Given the description of an element on the screen output the (x, y) to click on. 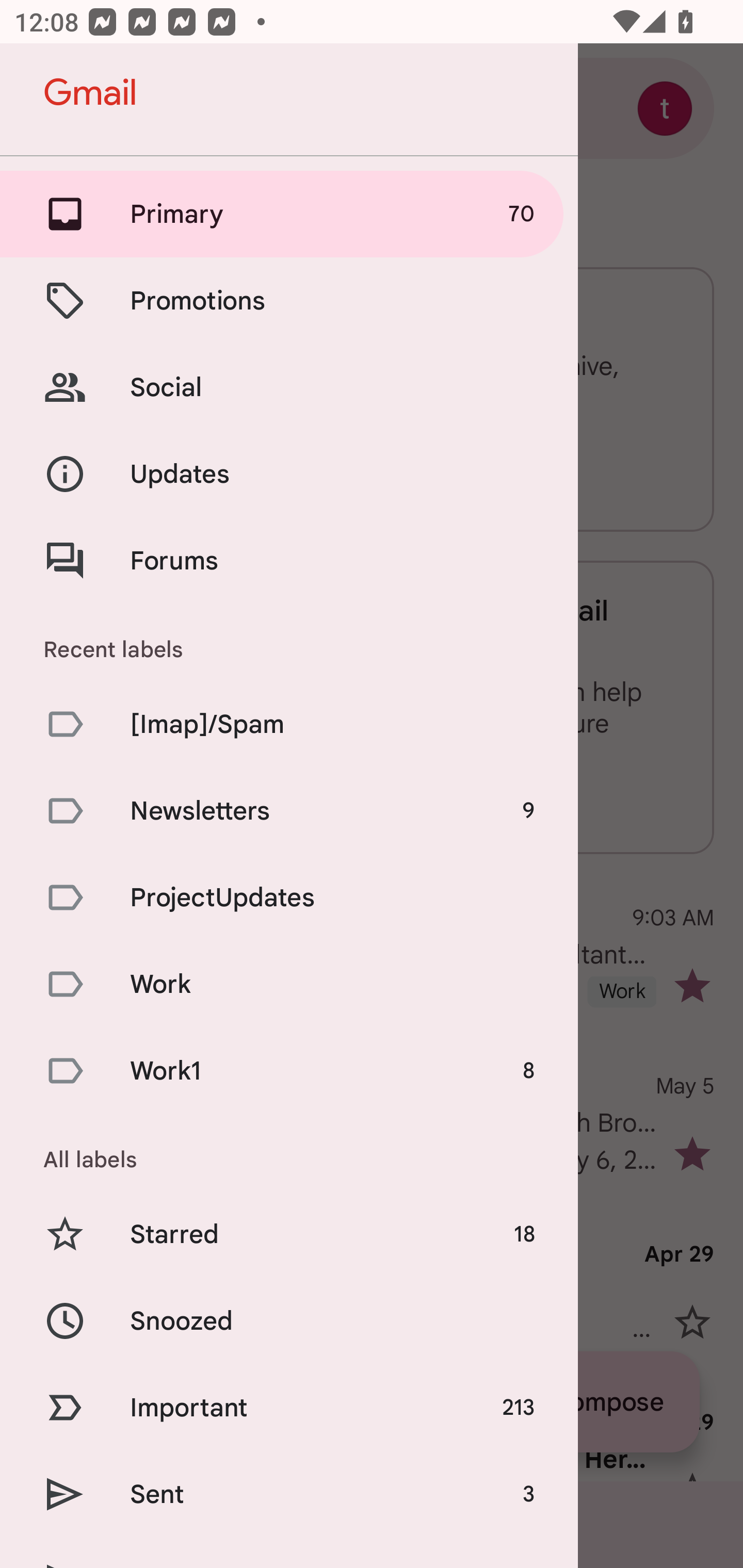
Primary 70 (289, 213)
Promotions (289, 300)
Social (289, 387)
Updates (289, 474)
Forums (289, 560)
[Imap]/Spam (289, 723)
Newsletters 9 (289, 810)
ProjectUpdates (289, 897)
Work (289, 983)
Work1 8 (289, 1070)
Starred 18 (289, 1234)
Snoozed (289, 1320)
Important 213 (289, 1407)
Sent 3 (289, 1494)
